Given the description of an element on the screen output the (x, y) to click on. 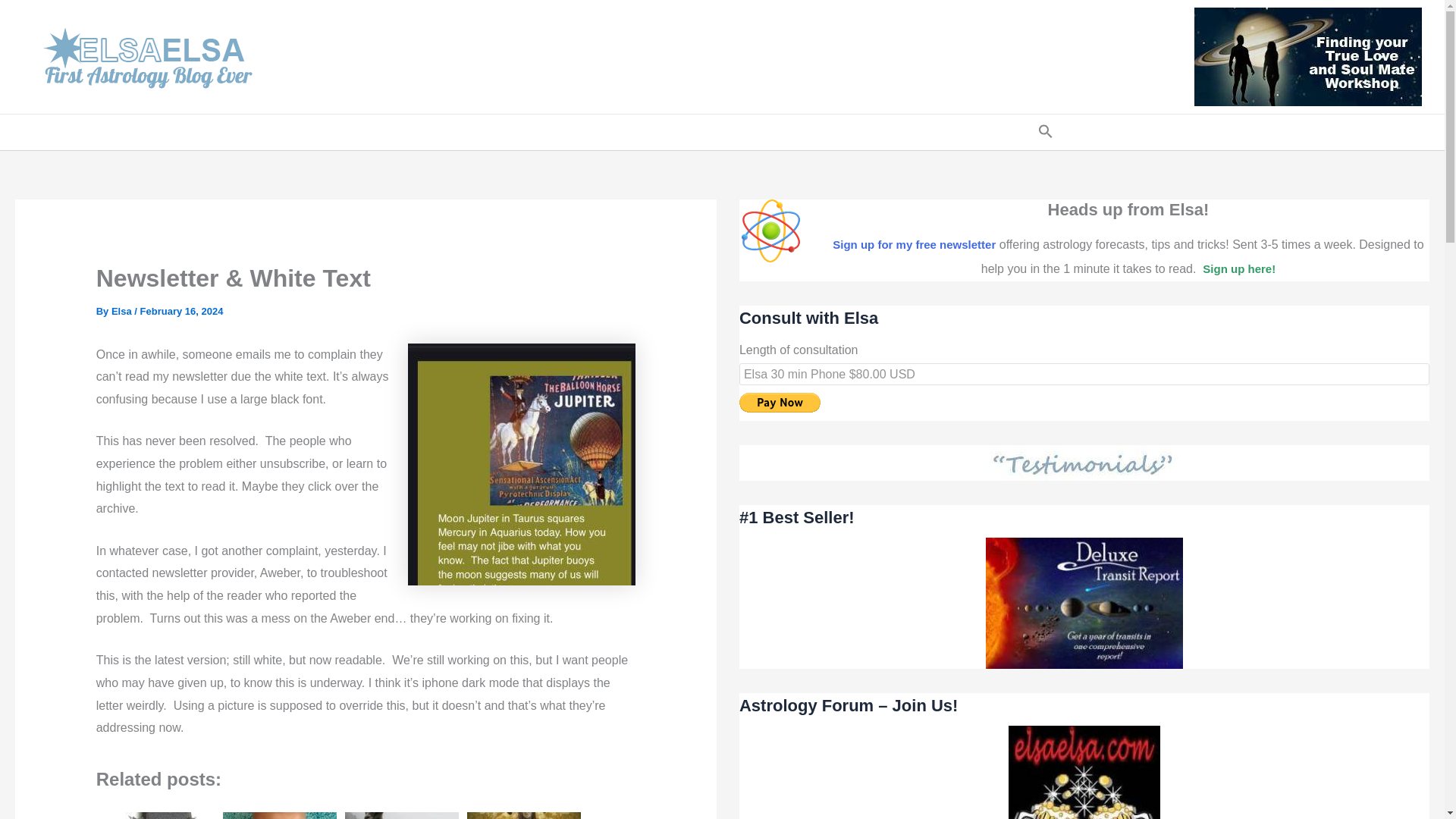
Tip (1016, 131)
Explore (961, 131)
About (827, 131)
Shop (624, 131)
Elsa (122, 310)
Videos (766, 131)
Consult (545, 131)
Forum (473, 131)
Contact (892, 131)
View all posts by Elsa (122, 310)
Blog (416, 131)
Calendar (695, 131)
